Given the description of an element on the screen output the (x, y) to click on. 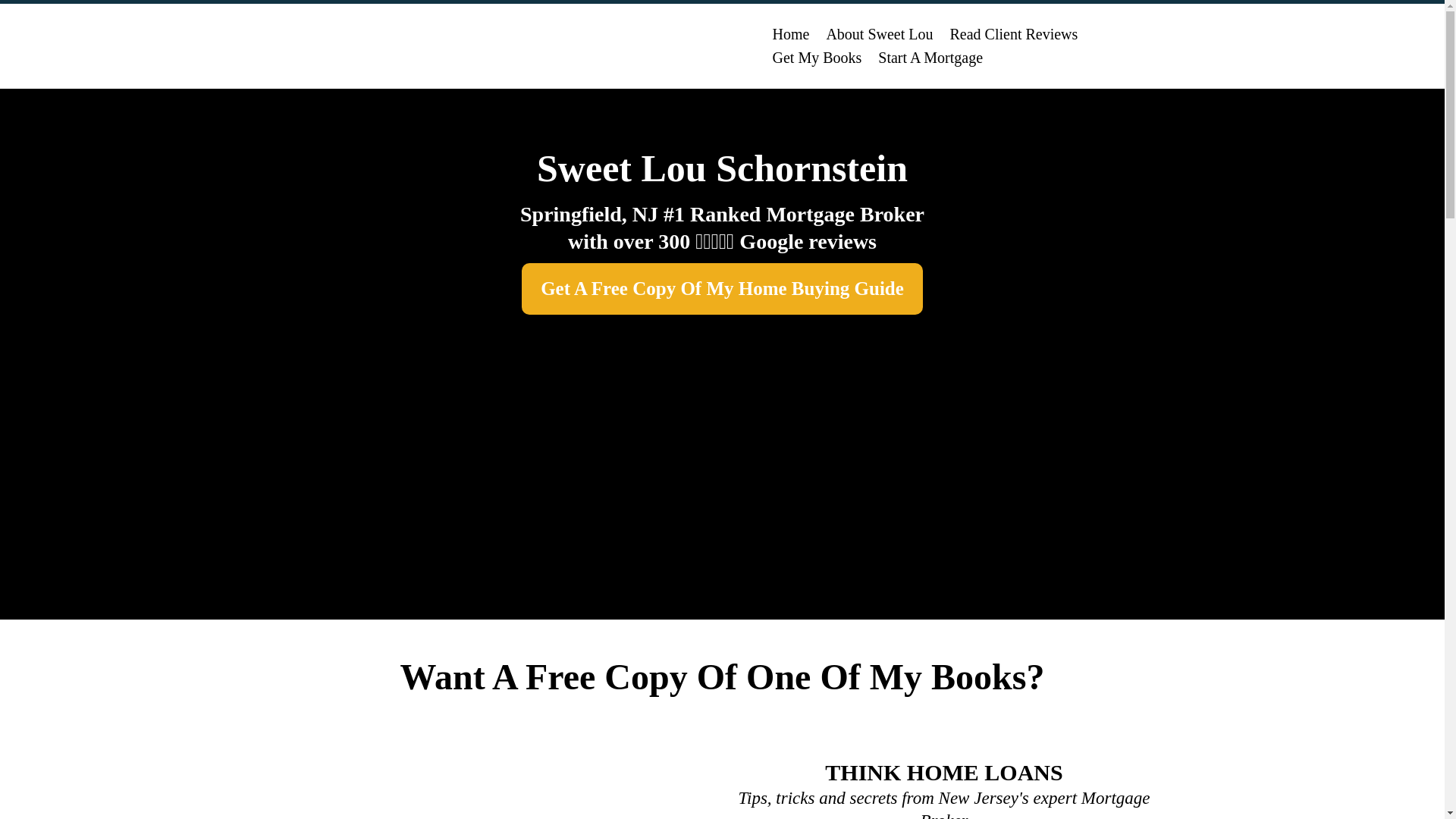
Start A Mortgage (930, 57)
About Sweet Lou (878, 33)
Read Client Reviews (1013, 33)
Get A Free Copy Of My Home Buying Guide (722, 288)
Home (791, 33)
Get My Books (817, 57)
